Given the description of an element on the screen output the (x, y) to click on. 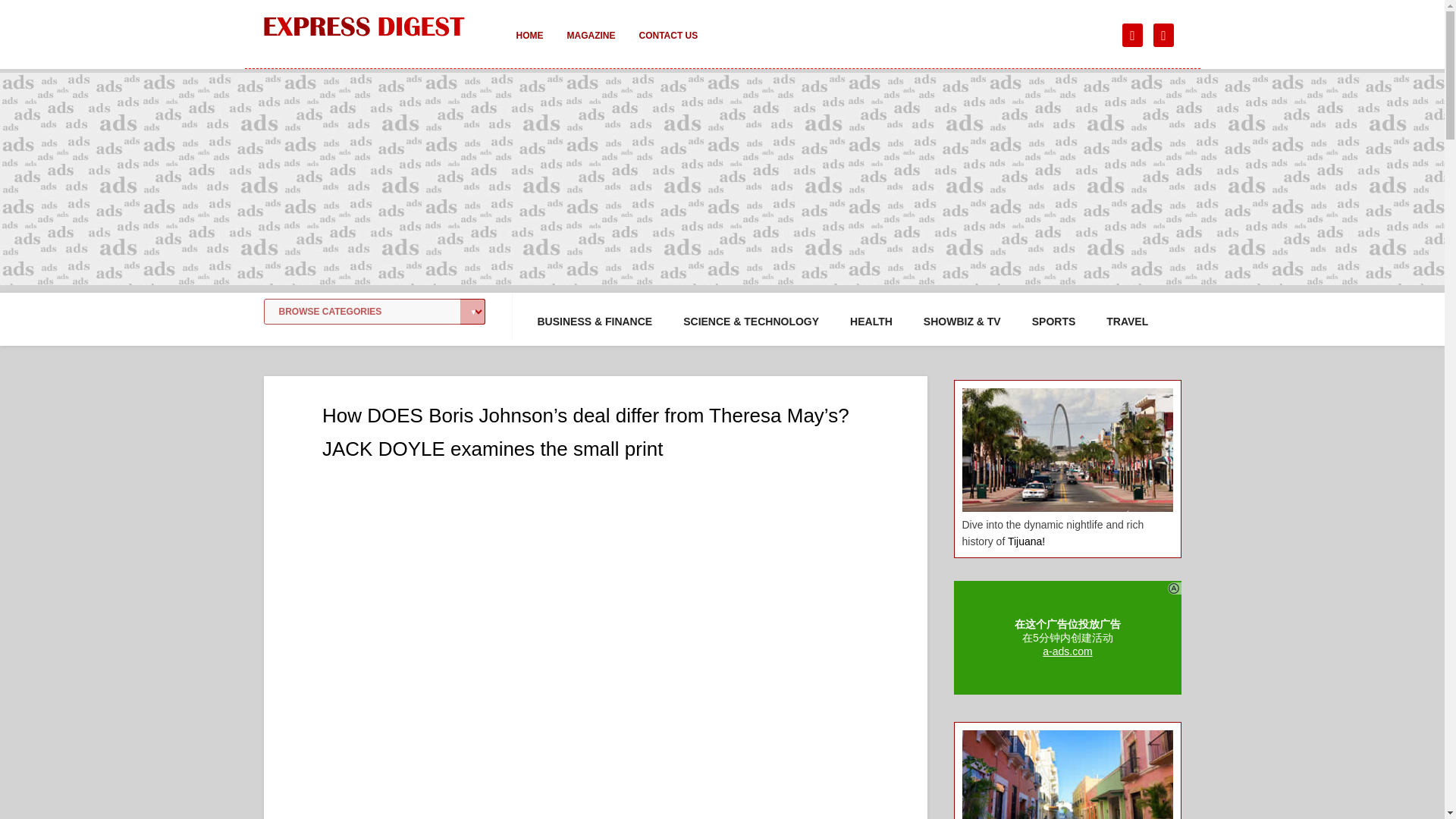
TRAVEL (1127, 321)
CONTACT US (667, 45)
Tijuana! (1026, 541)
HEALTH (871, 321)
MAGAZINE (590, 45)
SPORTS (1053, 321)
